Given the description of an element on the screen output the (x, y) to click on. 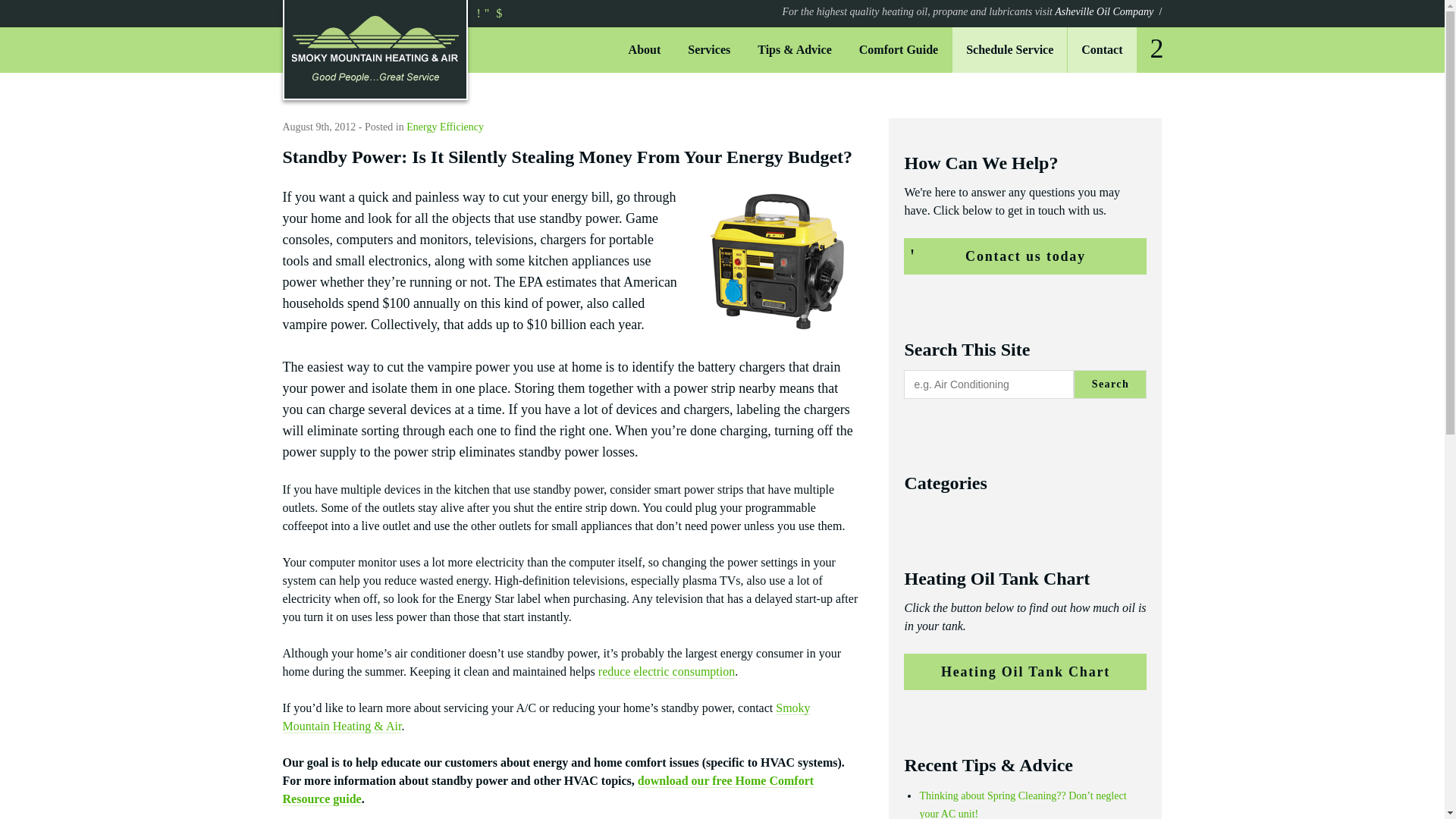
Contact (1101, 49)
Schedule Service (1009, 49)
Visit Asheville Oil Company (972, 11)
Search (1155, 48)
reduce electric consumption (666, 671)
Schedule Service (1009, 49)
Contact us today (1025, 256)
Energy Efficiency (444, 126)
SmokyMountain 8.9 (778, 262)
